Given the description of an element on the screen output the (x, y) to click on. 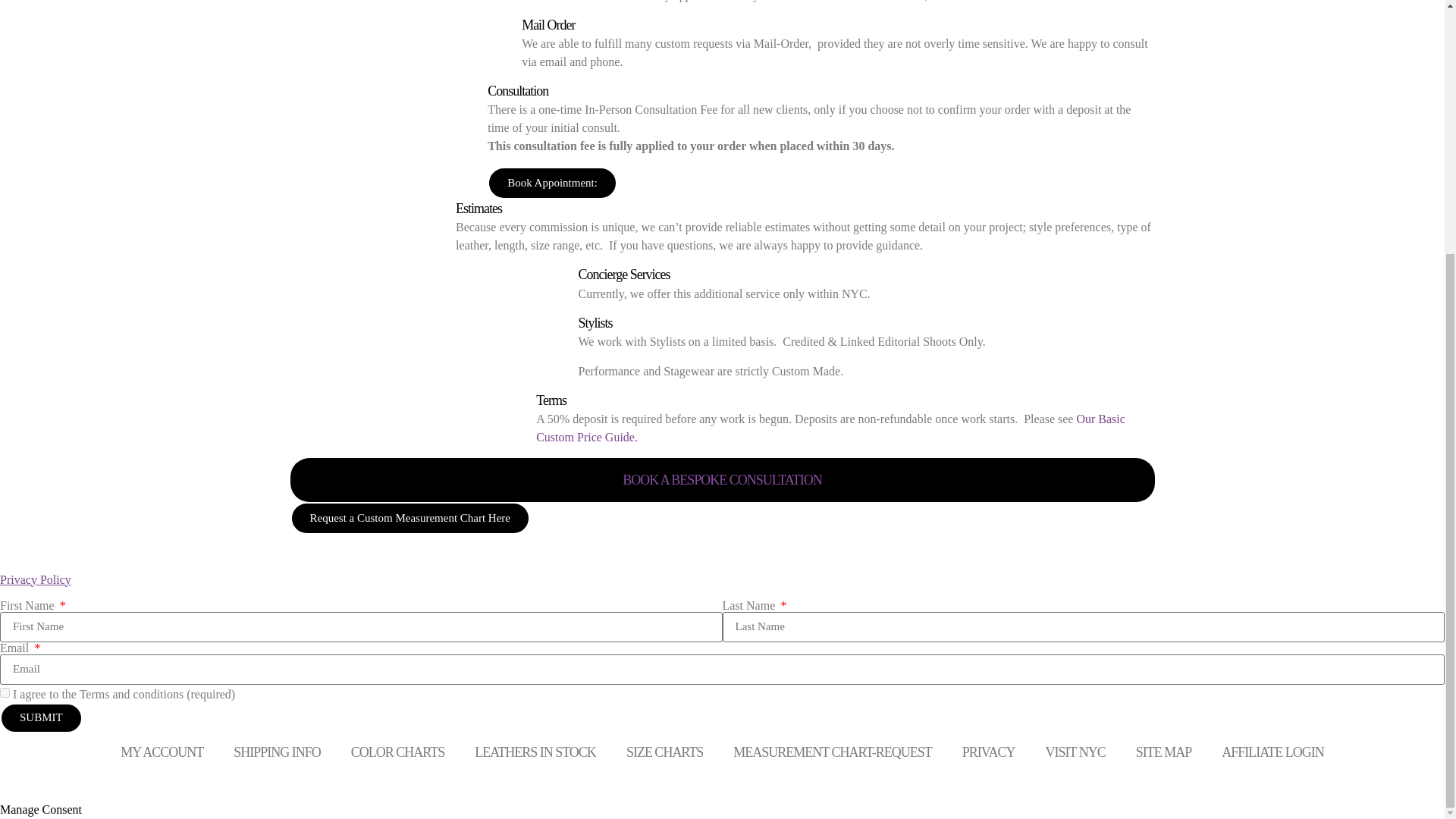
Our Basic Custom Price Guide. (830, 427)
on (5, 692)
